Given the description of an element on the screen output the (x, y) to click on. 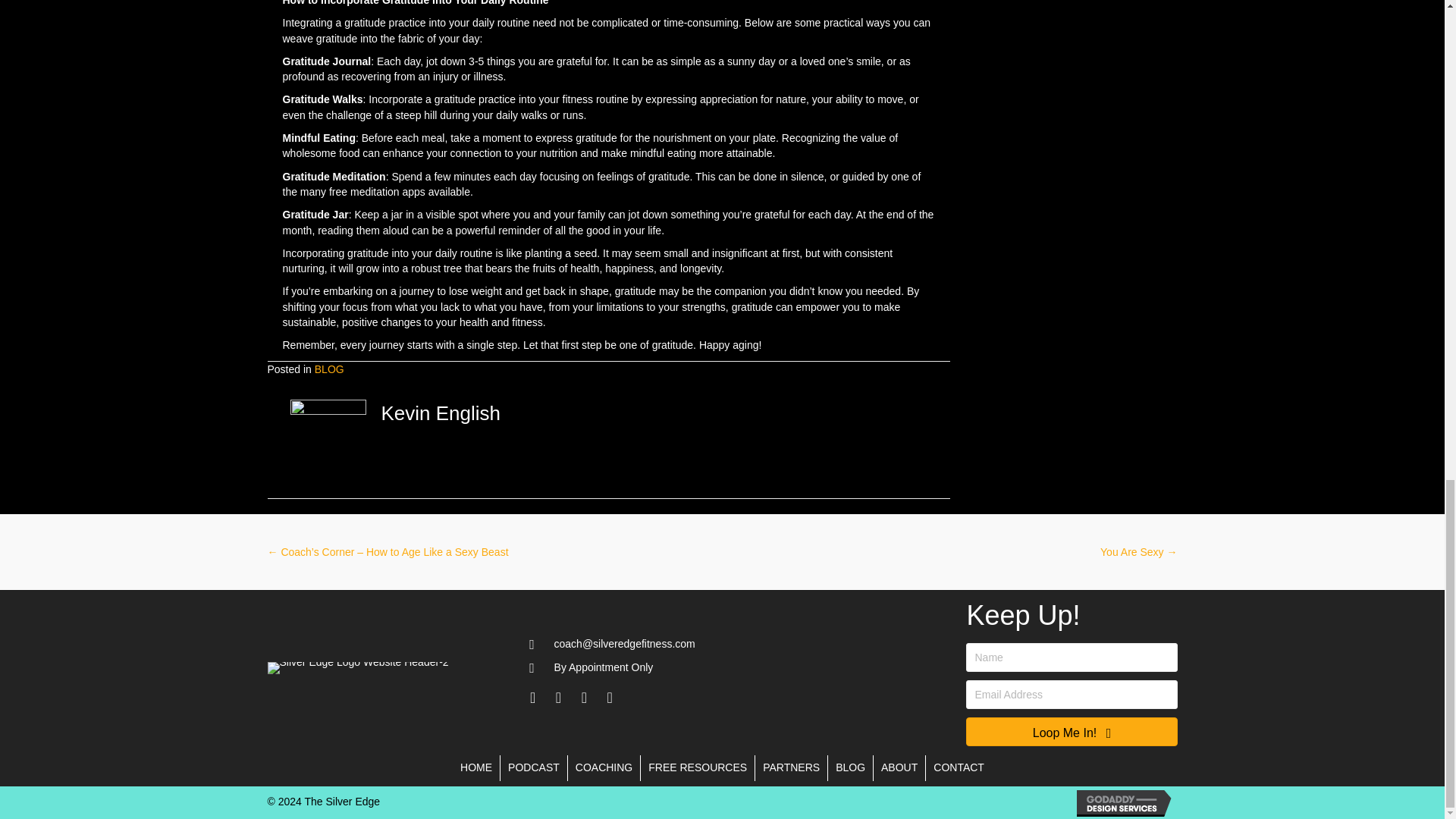
BLOG (328, 369)
Loop Me In! (1071, 731)
Silver Edge Logo Website Header-2 (357, 667)
PODCAST (533, 768)
HOME (475, 768)
COACHING (603, 768)
FREE RESOURCES (697, 768)
